Given the description of an element on the screen output the (x, y) to click on. 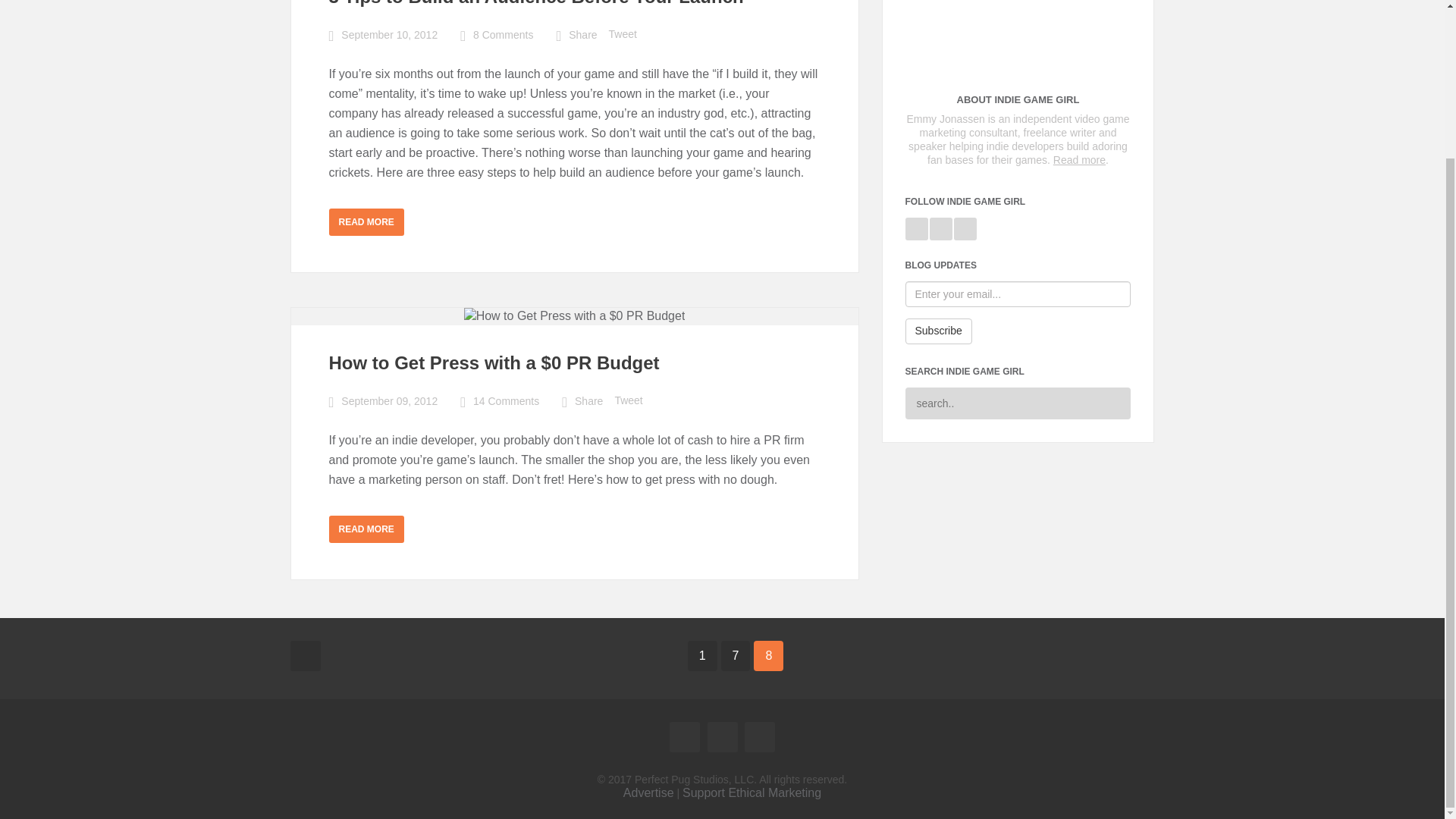
8 Comments (502, 34)
8 (768, 655)
READ MORE (366, 221)
Enter your email... (1018, 294)
Advertise (648, 792)
Read more (1078, 159)
1 (702, 655)
READ MORE (366, 528)
Subscribe (938, 330)
Support Ethical Marketing (751, 792)
